Given the description of an element on the screen output the (x, y) to click on. 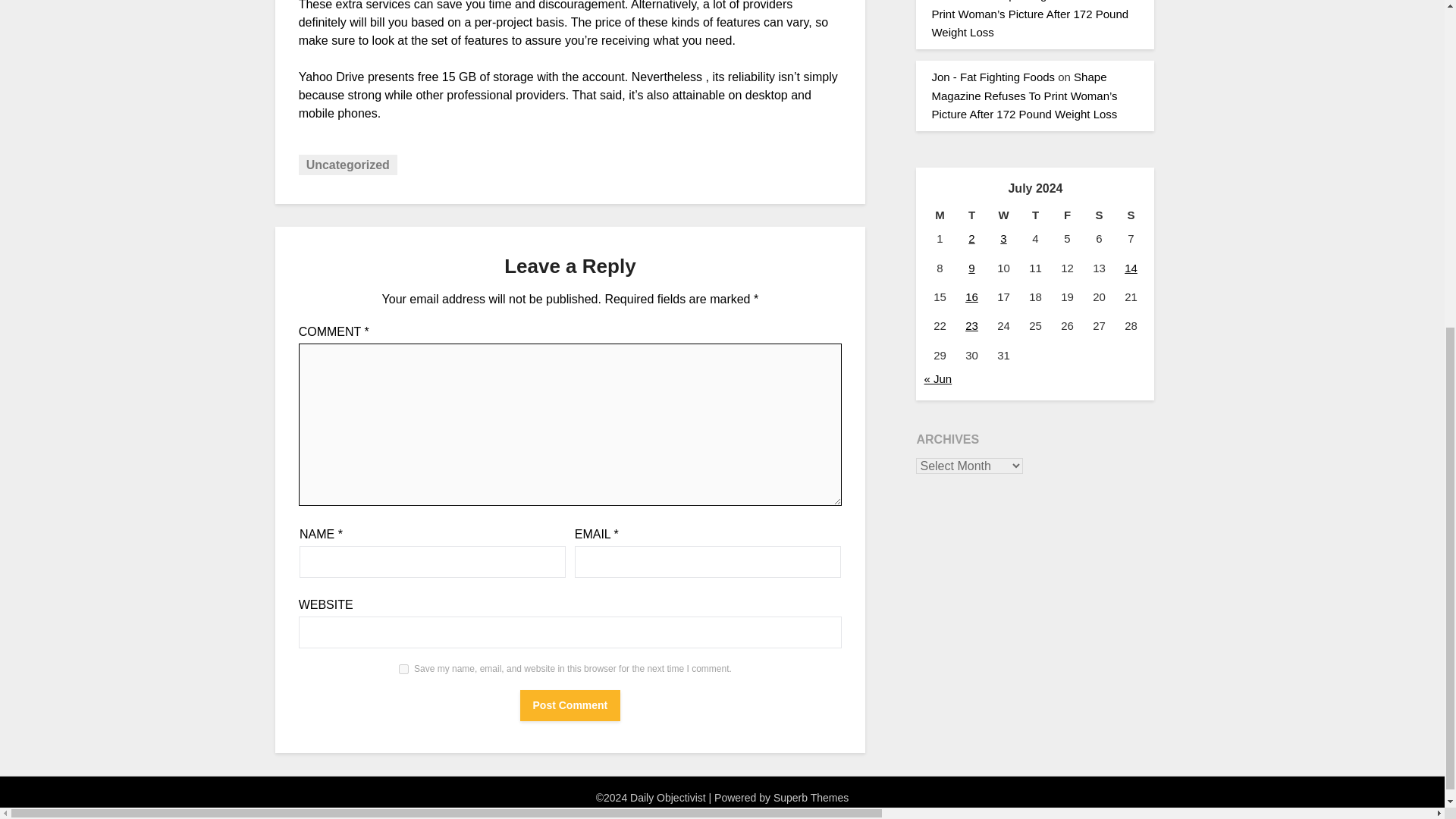
Saturday (1099, 215)
Post Comment (570, 705)
14 (1130, 267)
3 (1003, 237)
Tuesday (971, 215)
Jon - Fat Fighting Foods (992, 76)
16 (971, 296)
Liander (950, 0)
Friday (1067, 215)
Wednesday (1003, 215)
9 (971, 267)
2 (971, 237)
yes (403, 669)
Sunday (1131, 215)
23 (971, 325)
